Given the description of an element on the screen output the (x, y) to click on. 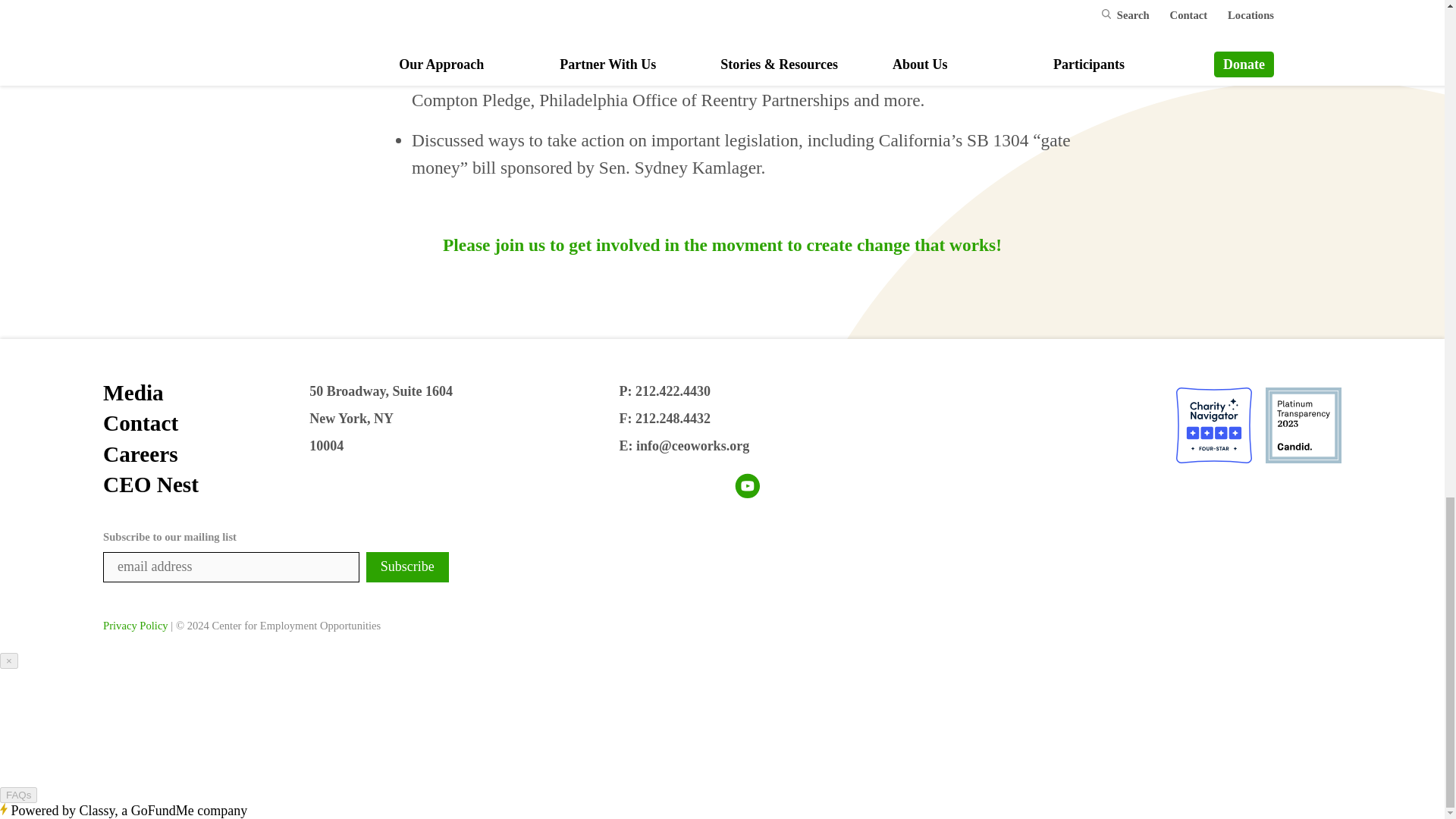
Subscribe (407, 567)
Contact (205, 422)
Careers (205, 453)
Media (205, 392)
CEO Nest (205, 484)
